Given the description of an element on the screen output the (x, y) to click on. 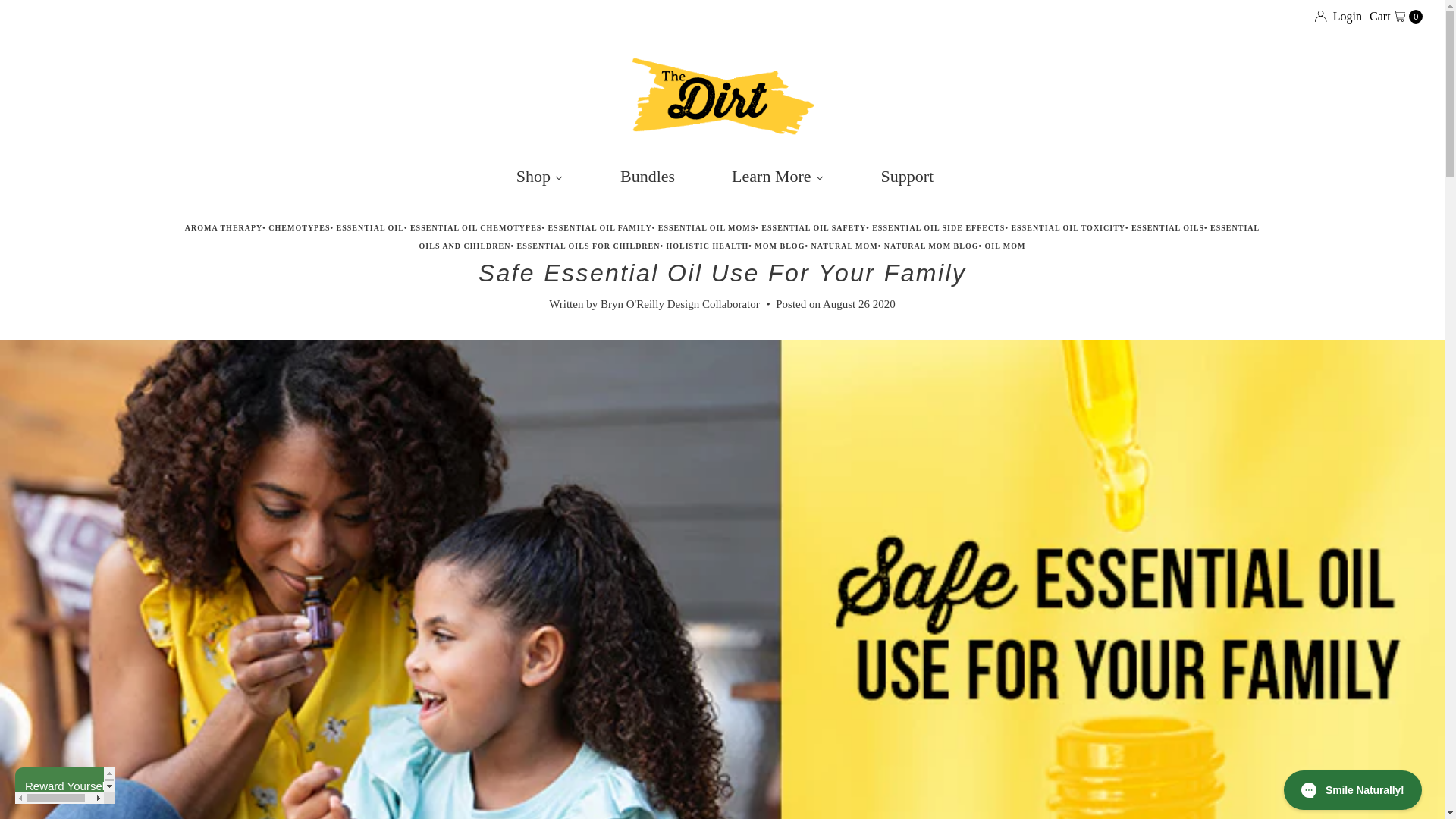
Shop  (536, 177)
ESSENTIAL OILS (1167, 227)
ESSENTIAL OIL CHEMOTYPES (475, 227)
Shop (536, 177)
ESSENTIAL OILS FOR CHILDREN (587, 245)
AROMA THERAPY (223, 227)
Bundles (644, 177)
ESSENTIAL OIL MOMS (706, 227)
ESSENTIAL OIL SAFETY (1396, 16)
